Given the description of an element on the screen output the (x, y) to click on. 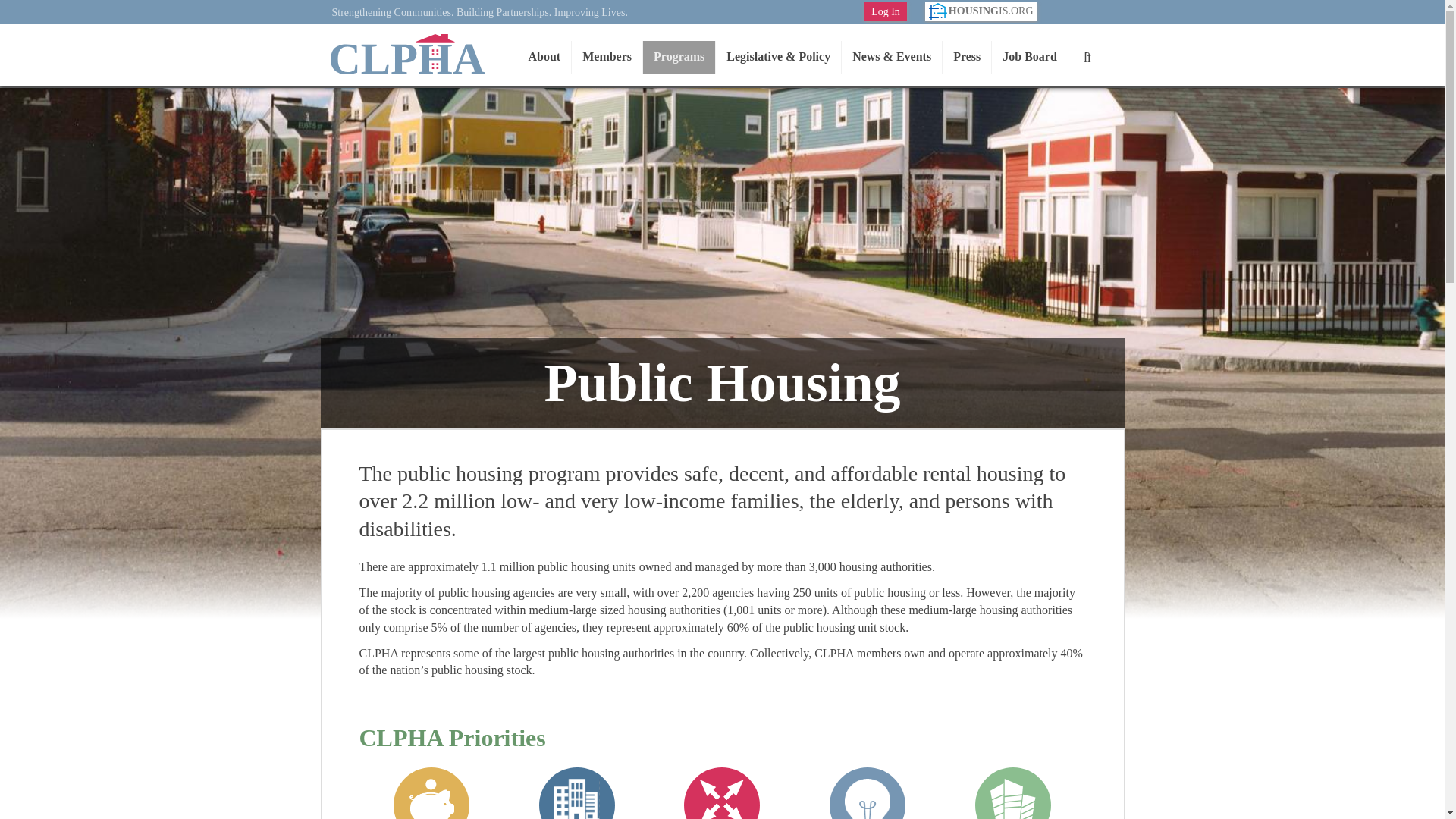
Home (406, 54)
Search (1087, 56)
